Given the description of an element on the screen output the (x, y) to click on. 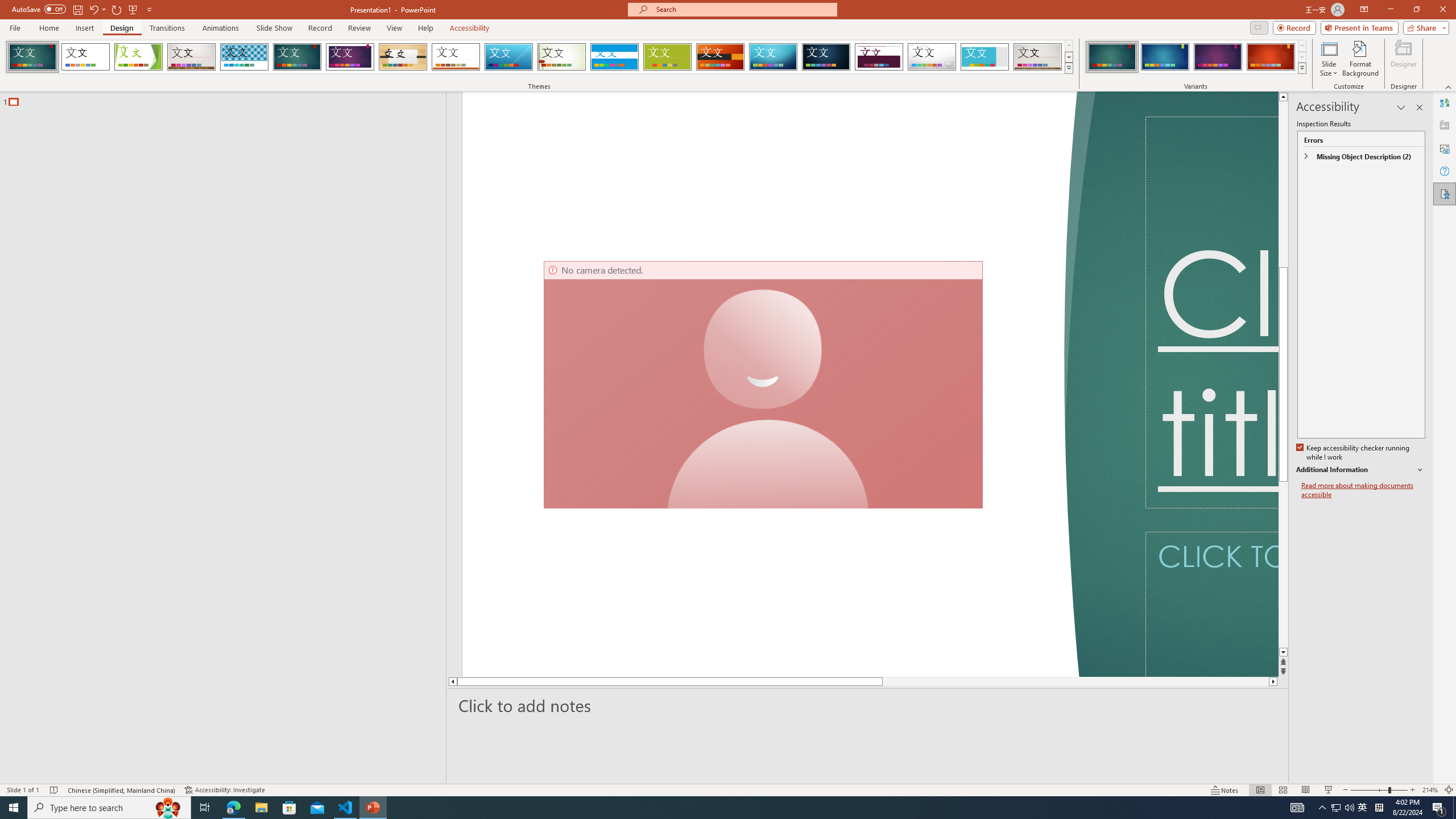
Notes  (1225, 790)
Subtitle TextBox (1211, 603)
Line up (1283, 96)
Spell Check No Errors (54, 790)
Title TextBox (1211, 312)
Integral (244, 56)
Gallery (1037, 56)
